Given the description of an element on the screen output the (x, y) to click on. 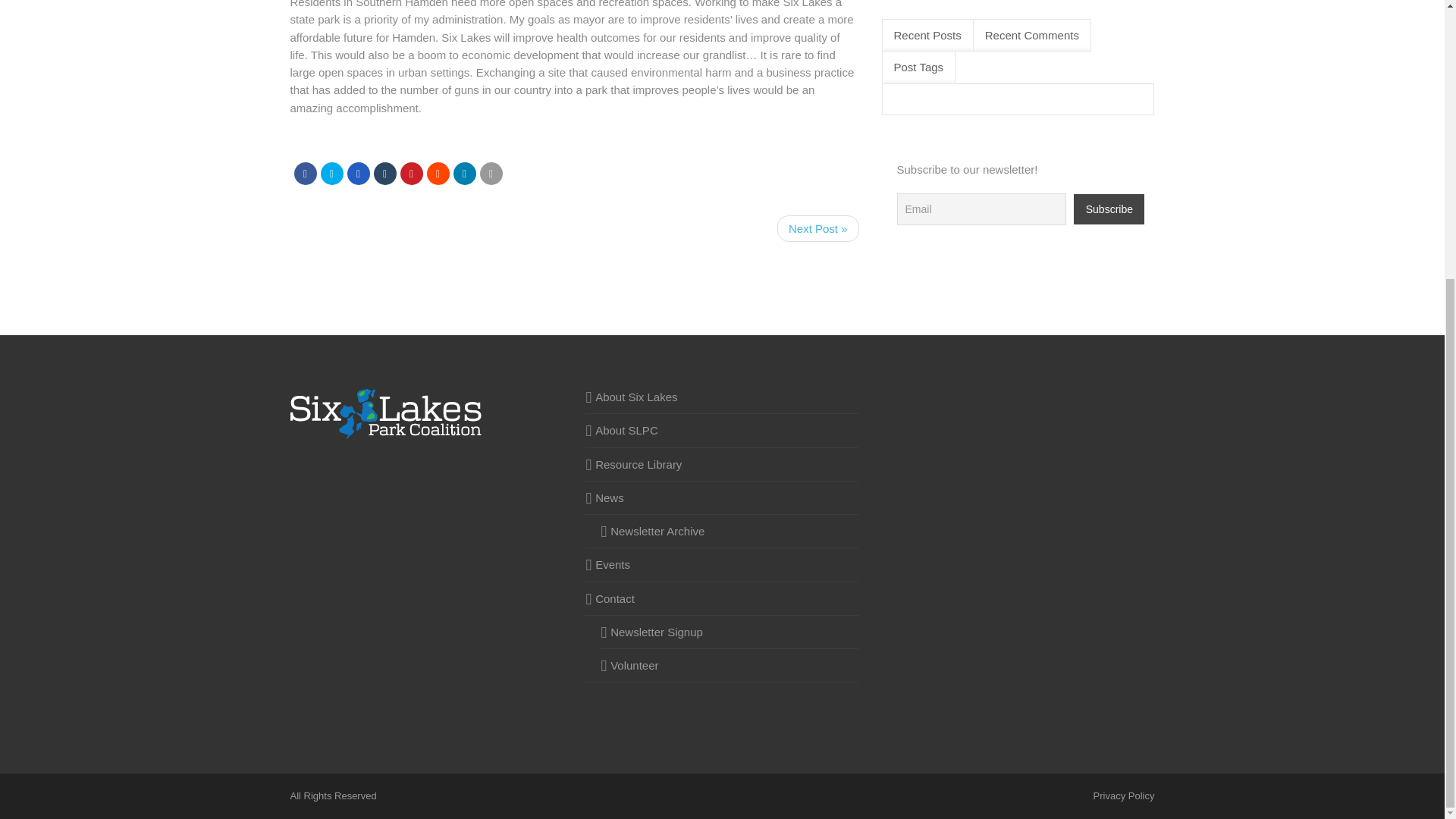
Share on Facebook (305, 173)
Recent Posts (926, 34)
Share on Linkedin (437, 173)
Tweet (331, 173)
Subscribe (1109, 209)
Email (490, 173)
Share on Linkedin (464, 173)
Pin it (411, 173)
Post to Tumblr (384, 173)
Recent Comments (1031, 34)
